Given the description of an element on the screen output the (x, y) to click on. 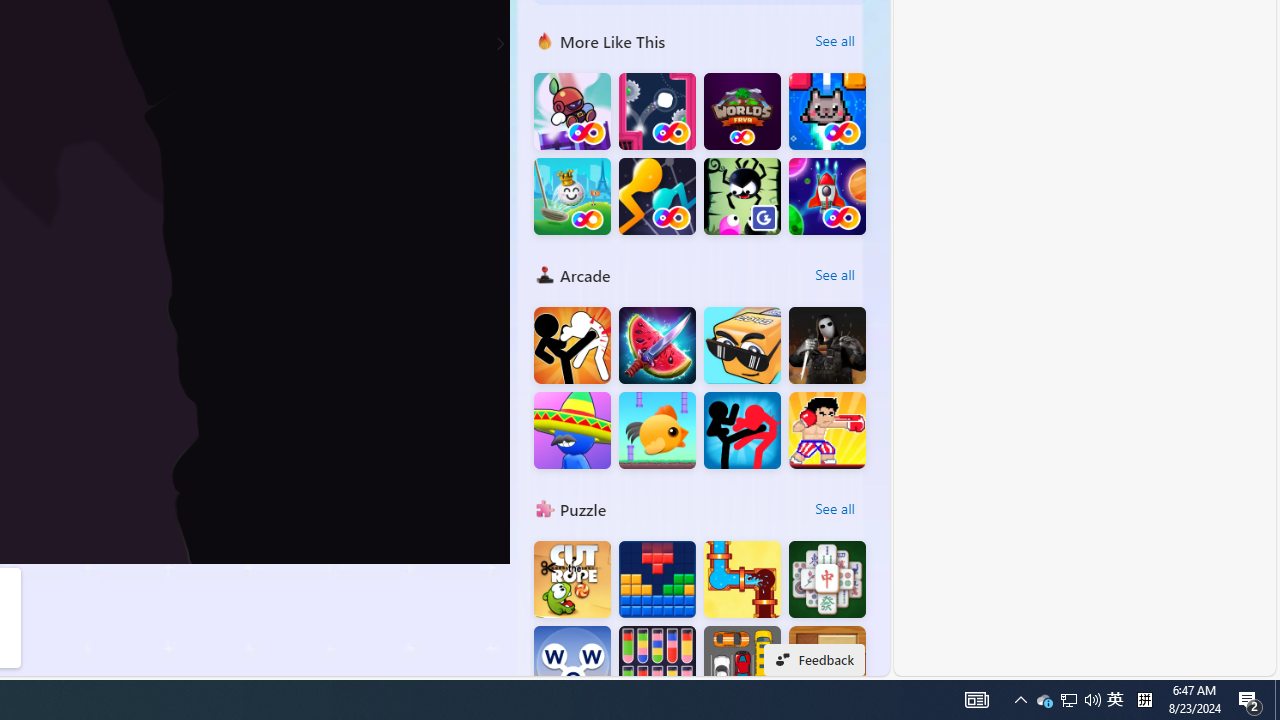
Plumber World (742, 579)
Stickman Brawl (571, 430)
